Given the description of an element on the screen output the (x, y) to click on. 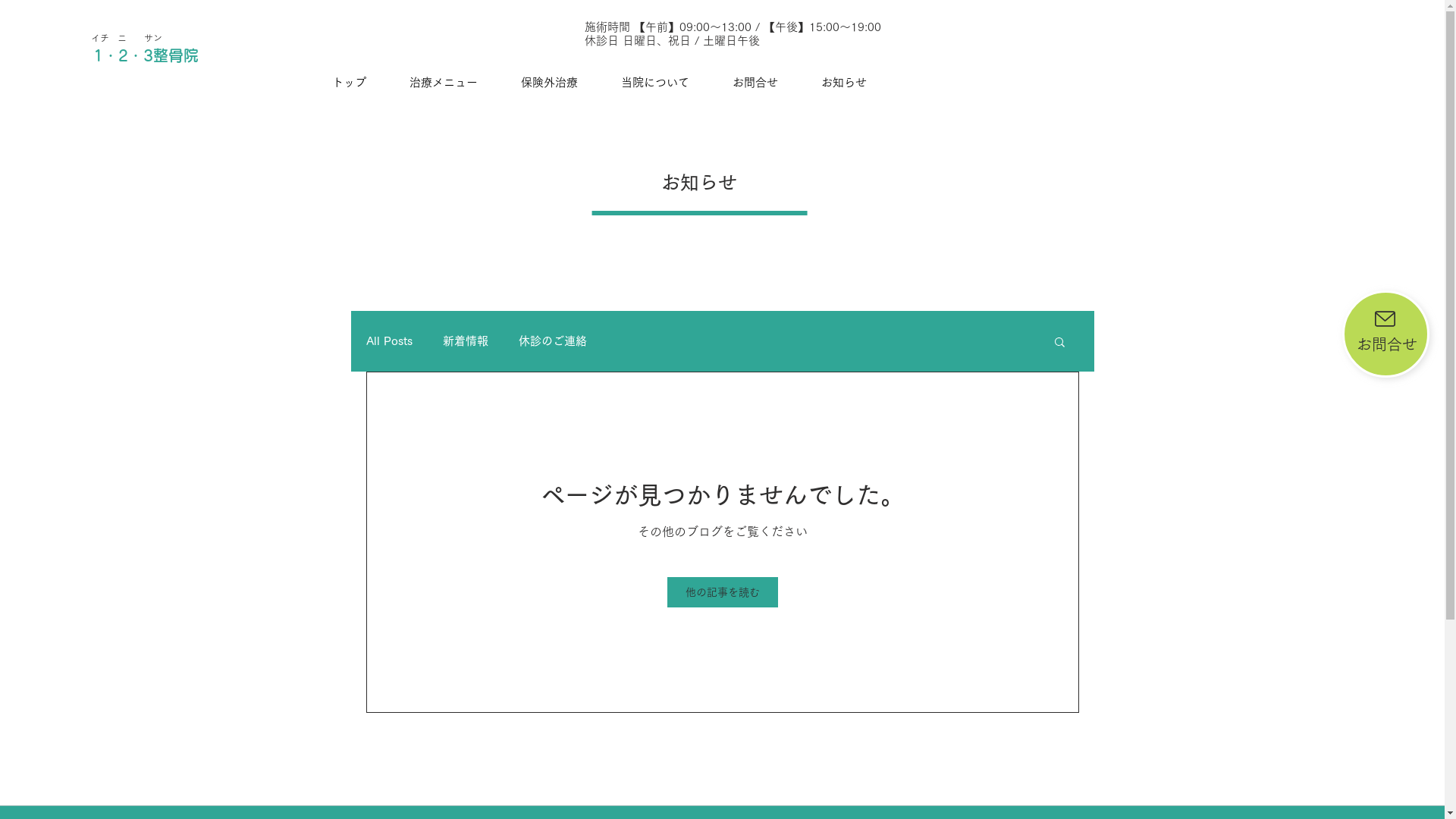
All Posts Element type: text (388, 340)
